Given the description of an element on the screen output the (x, y) to click on. 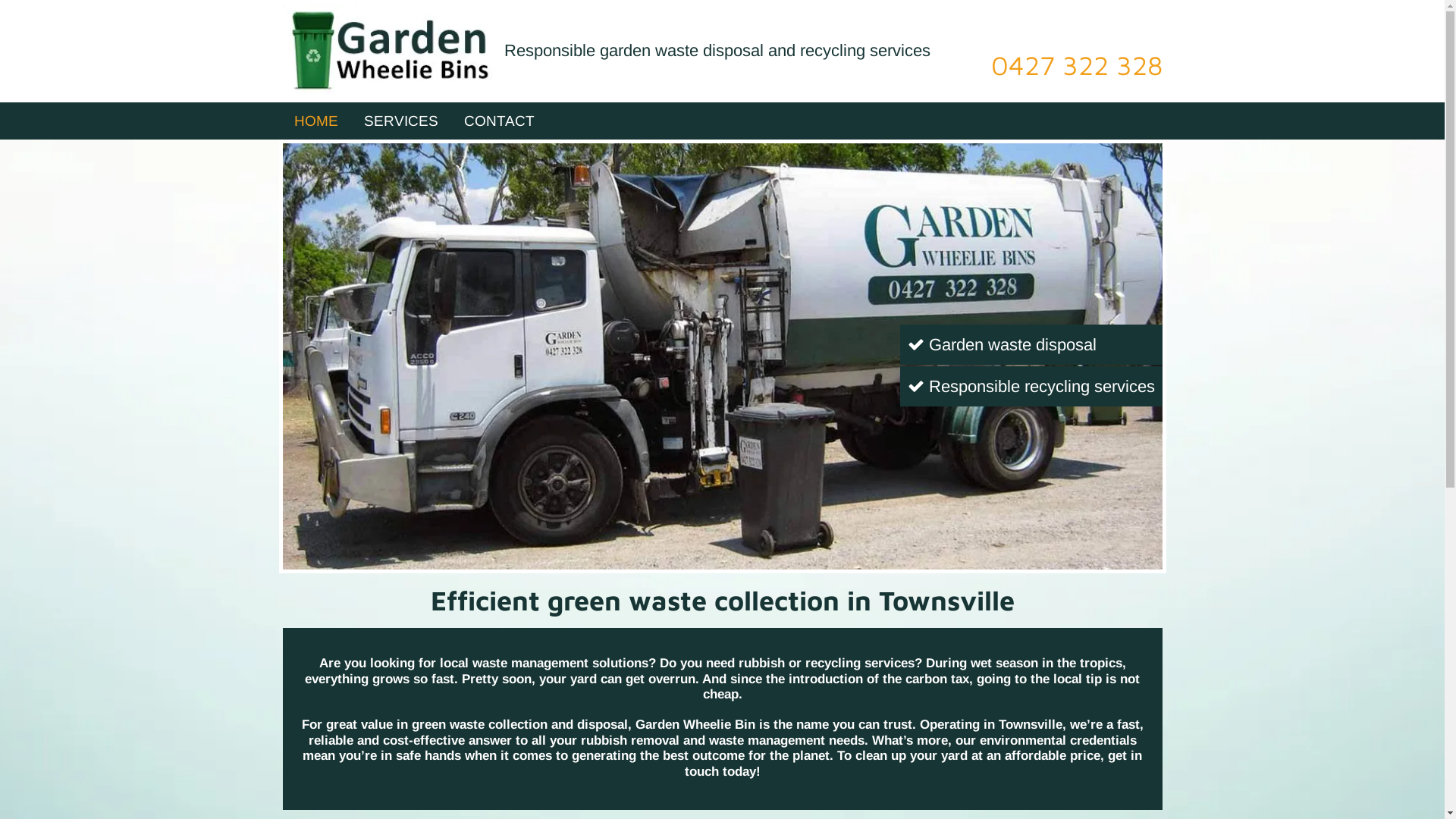
garden-wheelie-bin-logo Element type: hover (389, 50)
SERVICES Element type: text (401, 120)
0427 322 328 Element type: text (1076, 64)
garden-wheelie-bin-truck Element type: hover (721, 355)
CONTACT Element type: text (499, 120)
HOME Element type: text (316, 120)
